Given the description of an element on the screen output the (x, y) to click on. 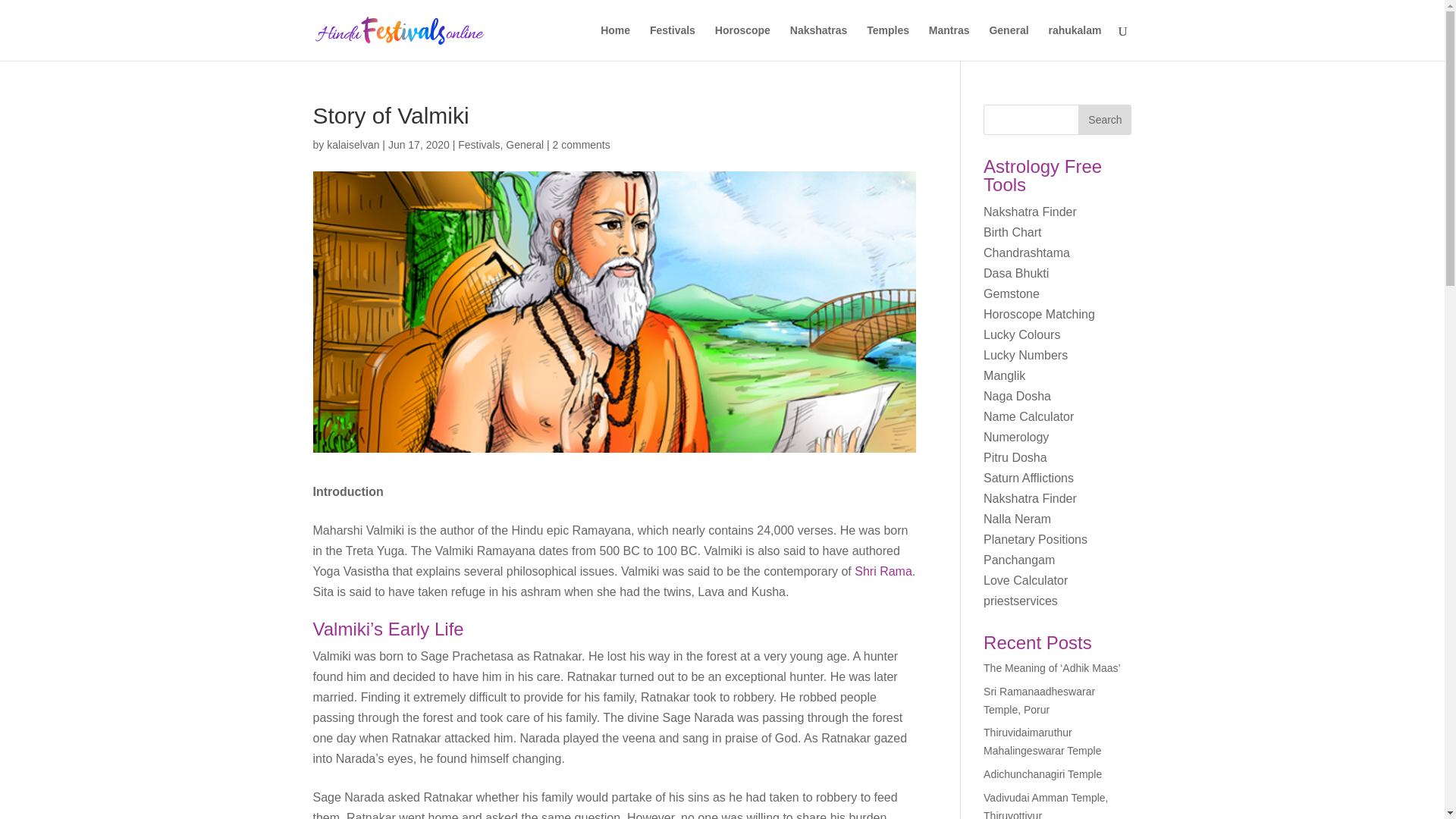
General (1007, 42)
Numerology (1016, 436)
Gemstone (1011, 293)
Saturn Afflictions (1029, 477)
Search (1104, 119)
Horoscope Matching (1039, 314)
Dasa Bhukti (1016, 273)
Festivals (478, 144)
Lucky Numbers (1025, 354)
Nalla Neram (1017, 518)
